Given the description of an element on the screen output the (x, y) to click on. 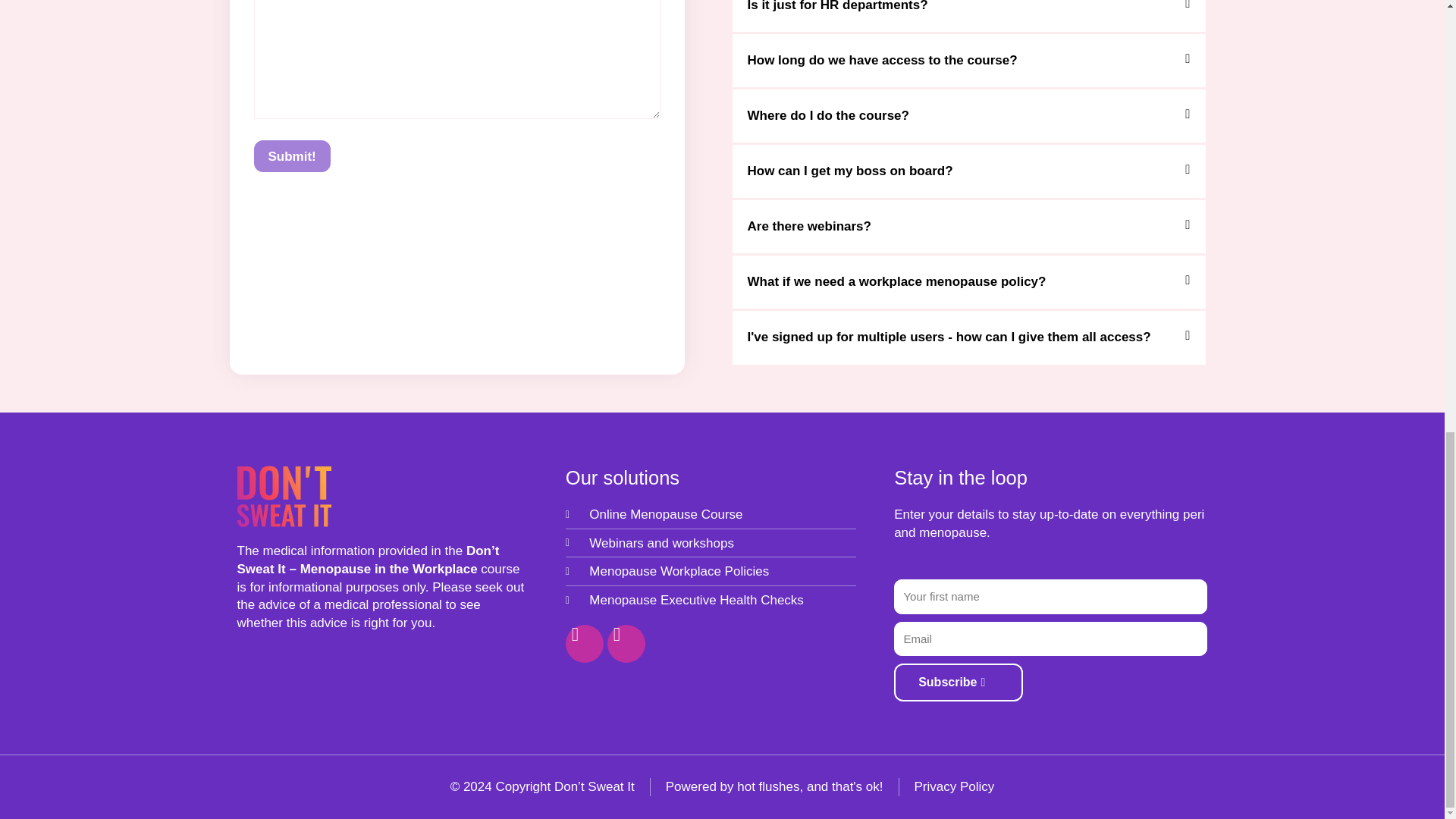
Submit! (291, 155)
